Given the description of an element on the screen output the (x, y) to click on. 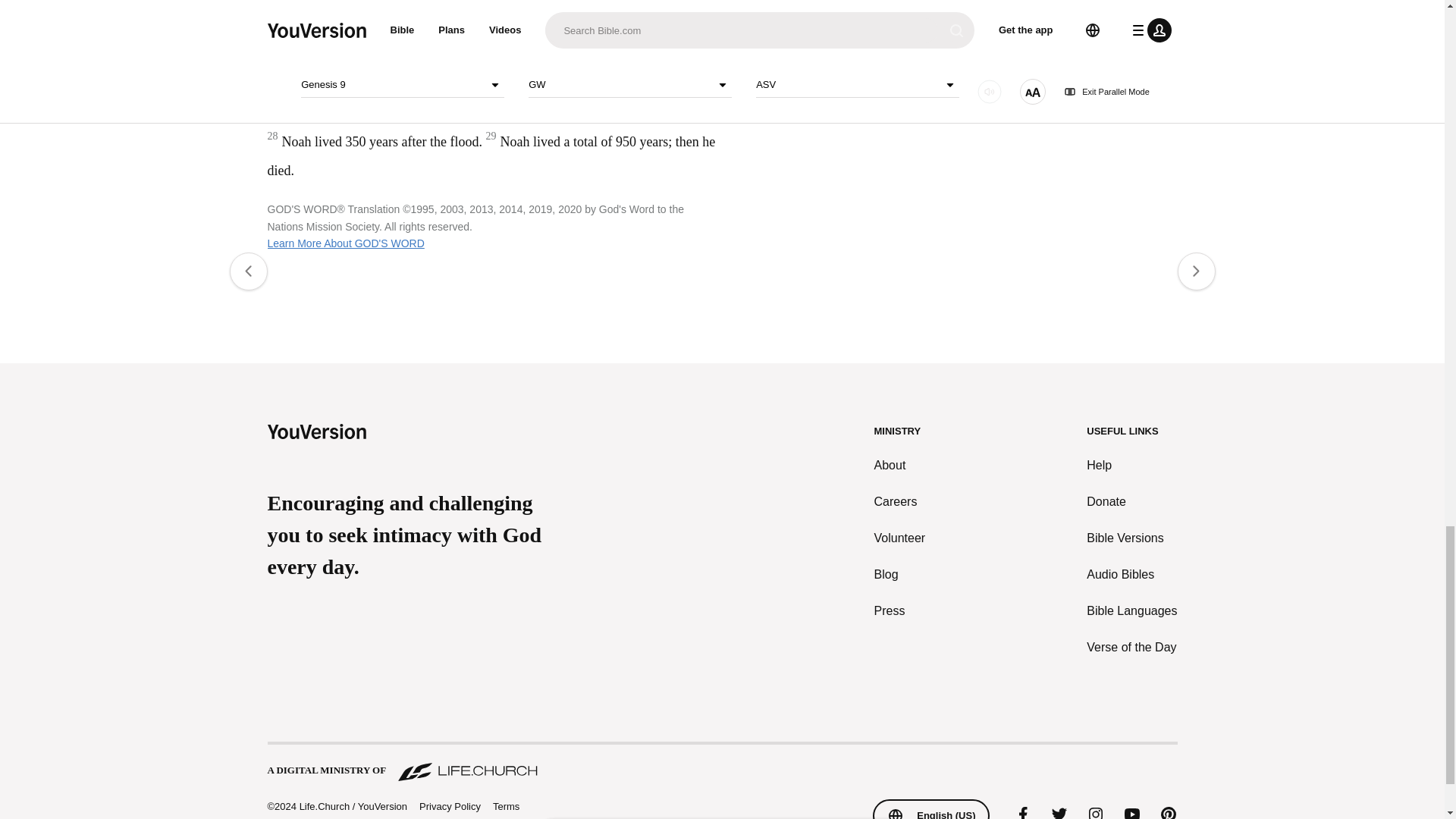
Donate (1131, 502)
A DIGITAL MINISTRY OF (721, 762)
Bible Versions (1131, 538)
Bible Languages (1131, 610)
Press (900, 610)
Careers (900, 502)
Volunteer (900, 538)
Verse of the Day (1131, 647)
Privacy Policy (449, 806)
Learn More About GOD'S WORD (344, 243)
Learn More About American Standard Version (835, 86)
Blog (900, 574)
Help (1131, 465)
Audio Bibles (1131, 574)
About (900, 465)
